Given the description of an element on the screen output the (x, y) to click on. 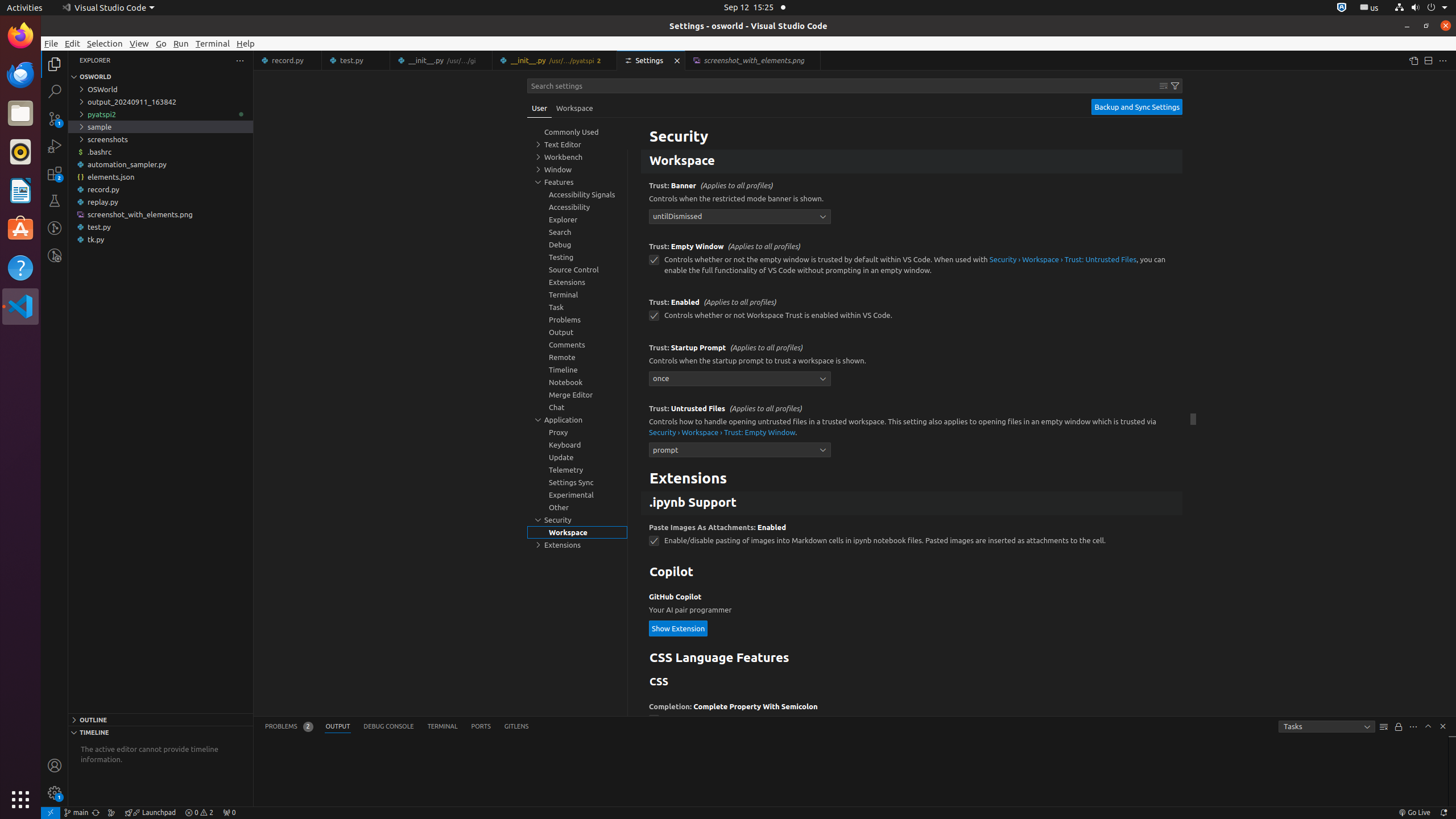
Settings Element type: page-tab (651, 60)
Trust Empty Window. Setting value retained when switching profiles. Controls whether or not the empty window is trusted by default within VS Code. When used with "Security › Workspace › Trust: Untrusted Files", you can enable the full functionality of VS Code without prompting in an empty window.  Element type: tree-item (911, 262)
Timeline, group Element type: tree-item (577, 369)
Firefox Web Browser Element type: push-button (20, 35)
Accessibility, group Element type: tree-item (577, 206)
